Given the description of an element on the screen output the (x, y) to click on. 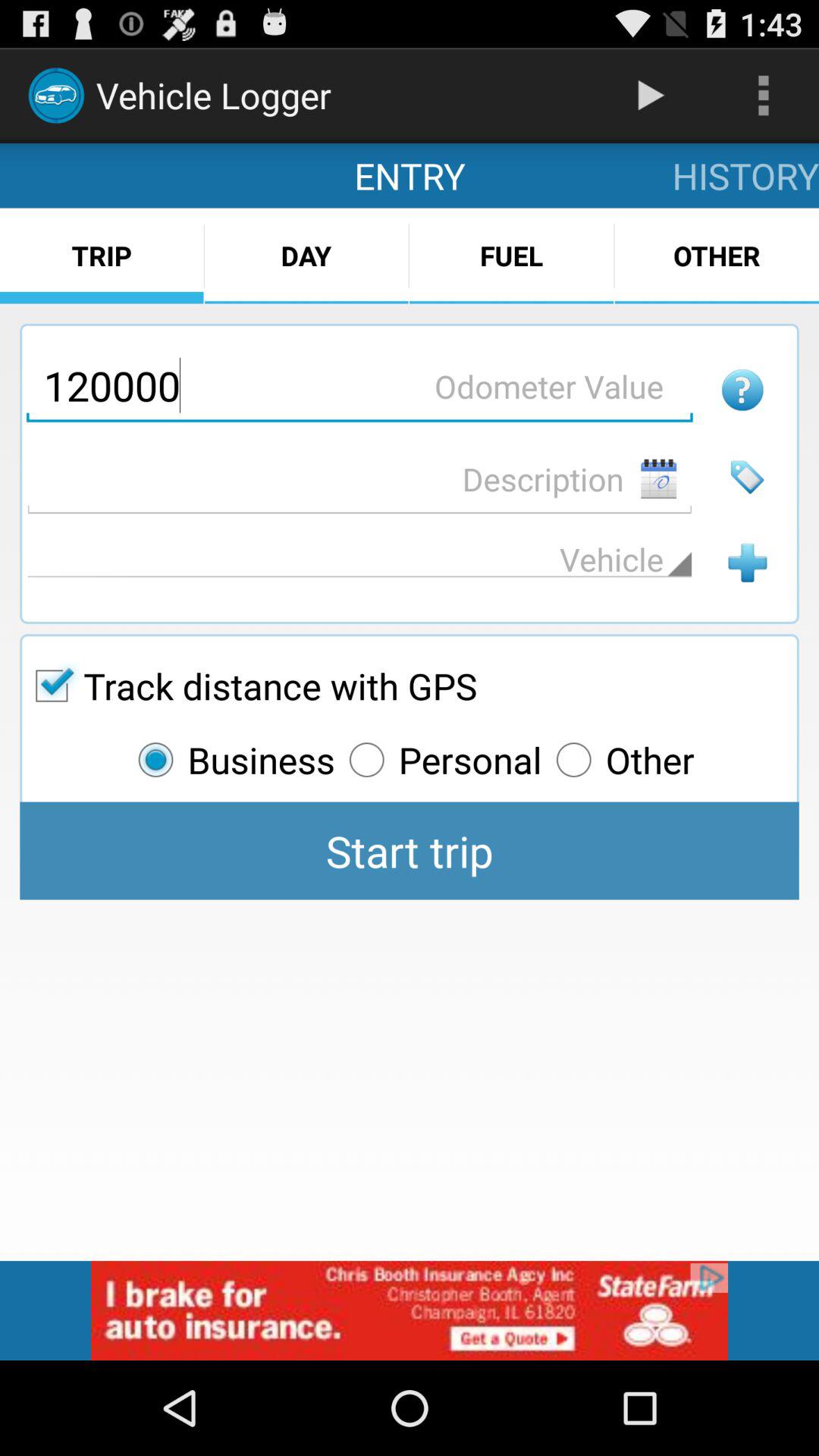
click to add description of your trip (359, 478)
